Given the description of an element on the screen output the (x, y) to click on. 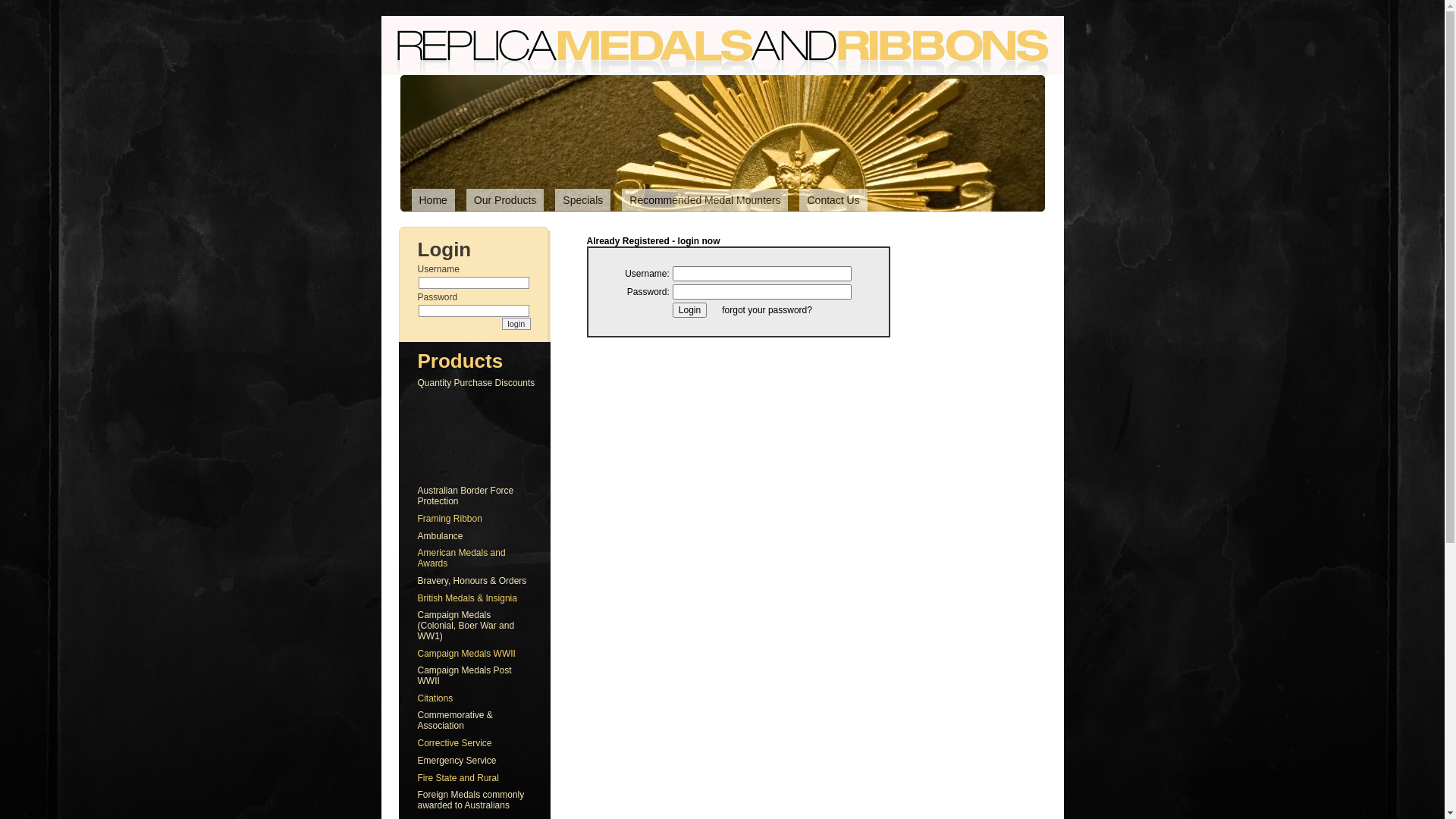
Fire State and Rural Element type: text (457, 776)
Campaign Medals Post WWII Element type: text (464, 675)
Home Element type: text (432, 199)
Contact Us Element type: text (832, 199)
Australian Border Force Protection Element type: text (465, 495)
Quantity Purchase Discounts Element type: text (475, 382)
Login Element type: text (689, 309)
Citations Element type: text (434, 698)
American Medals and Awards Element type: text (461, 557)
Corrective Service Element type: text (454, 742)
Our Products Element type: text (504, 199)
Bravery, Honours & Orders Element type: text (471, 579)
Foreign Medals commonly awarded to Australians Element type: text (470, 799)
Commemorative & Association Element type: text (454, 720)
Framing Ribbon Element type: text (449, 517)
Campaign Medals WWII Element type: text (465, 652)
Campaign Medals (Colonial, Boer War and WW1) Element type: text (465, 625)
Emergency Service Element type: text (456, 760)
British Medals & Insignia Element type: text (466, 598)
forgot your password? Element type: text (766, 309)
Specials Element type: text (582, 199)
login Element type: text (516, 323)
Ambulance Element type: text (439, 535)
Recommended Medal Mounters Element type: text (704, 199)
